Given the description of an element on the screen output the (x, y) to click on. 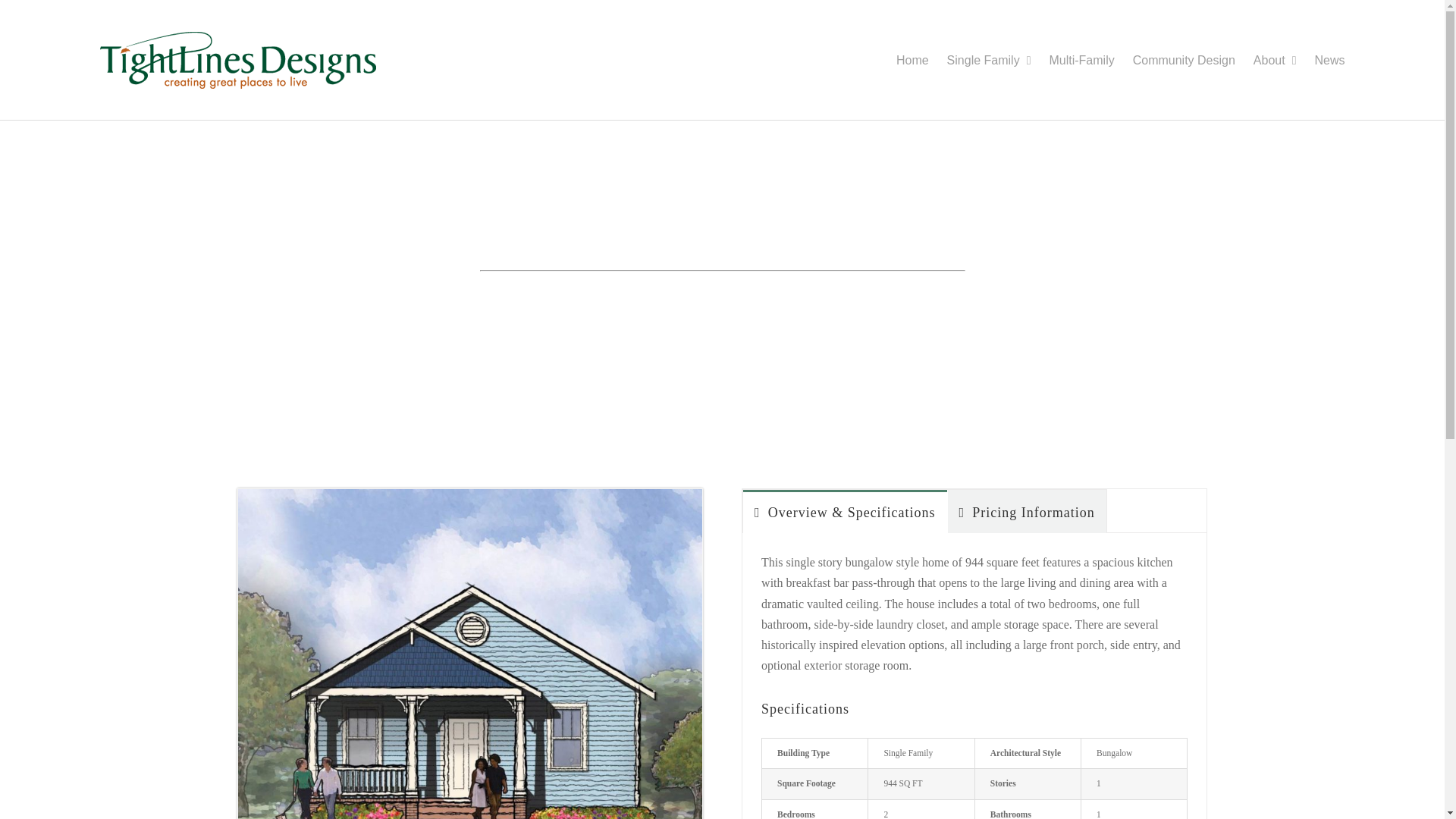
Community Design (1183, 56)
Pricing Information (1026, 511)
  Printable PDF (538, 296)
  My Favorites (907, 296)
Hinsdale Front Rendering (469, 494)
  Order House Plan (661, 296)
Save to Favorites (790, 296)
